Given the description of an element on the screen output the (x, y) to click on. 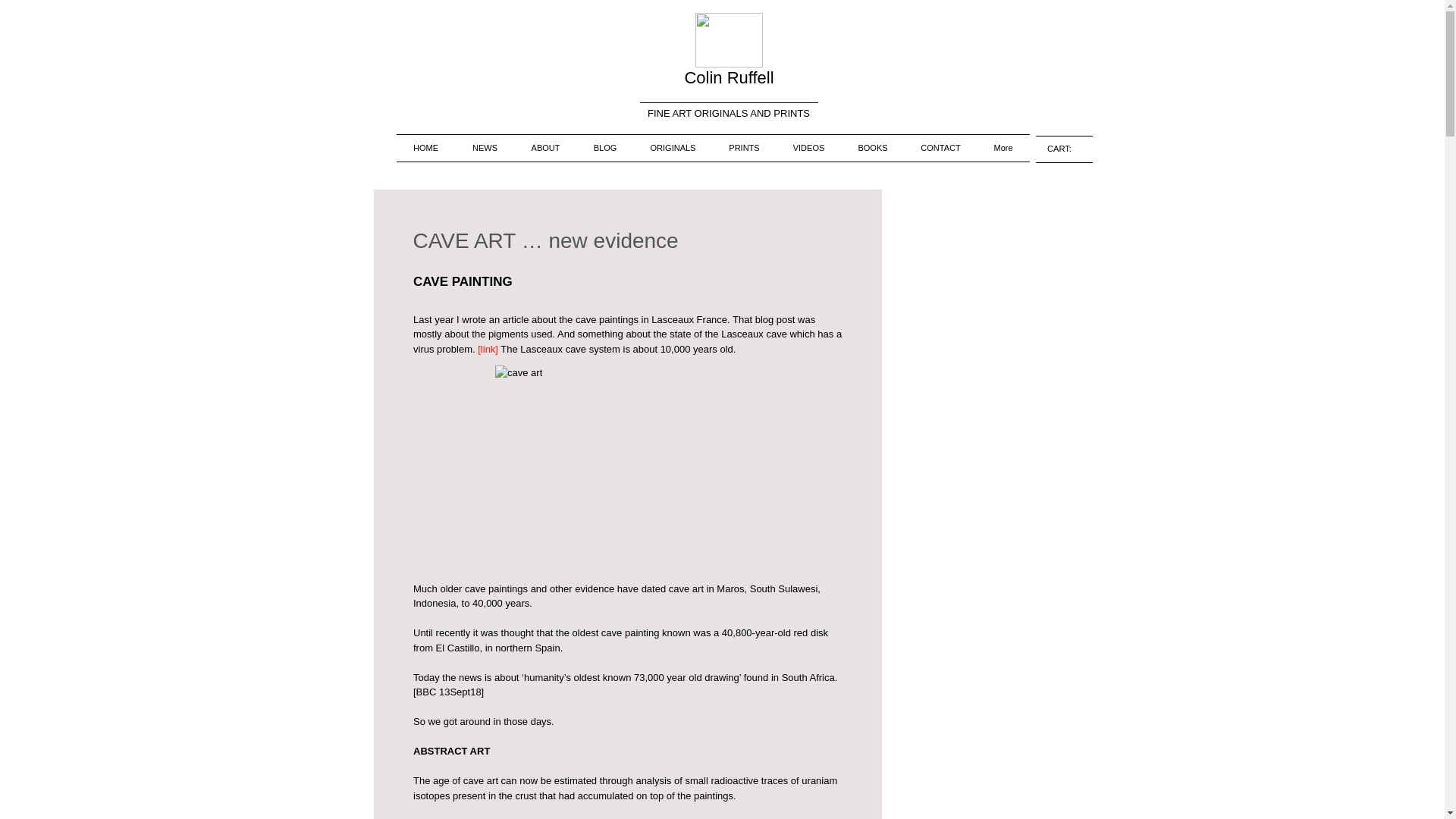
BOOKS (872, 148)
CART: (1063, 148)
ABOUT (544, 148)
HOME (425, 148)
CONTACT (940, 148)
RUFFELL LOGO.jpg (727, 40)
PRINTS (744, 148)
BLOG (604, 148)
NEWS (483, 148)
VIDEOS (808, 148)
